Given the description of an element on the screen output the (x, y) to click on. 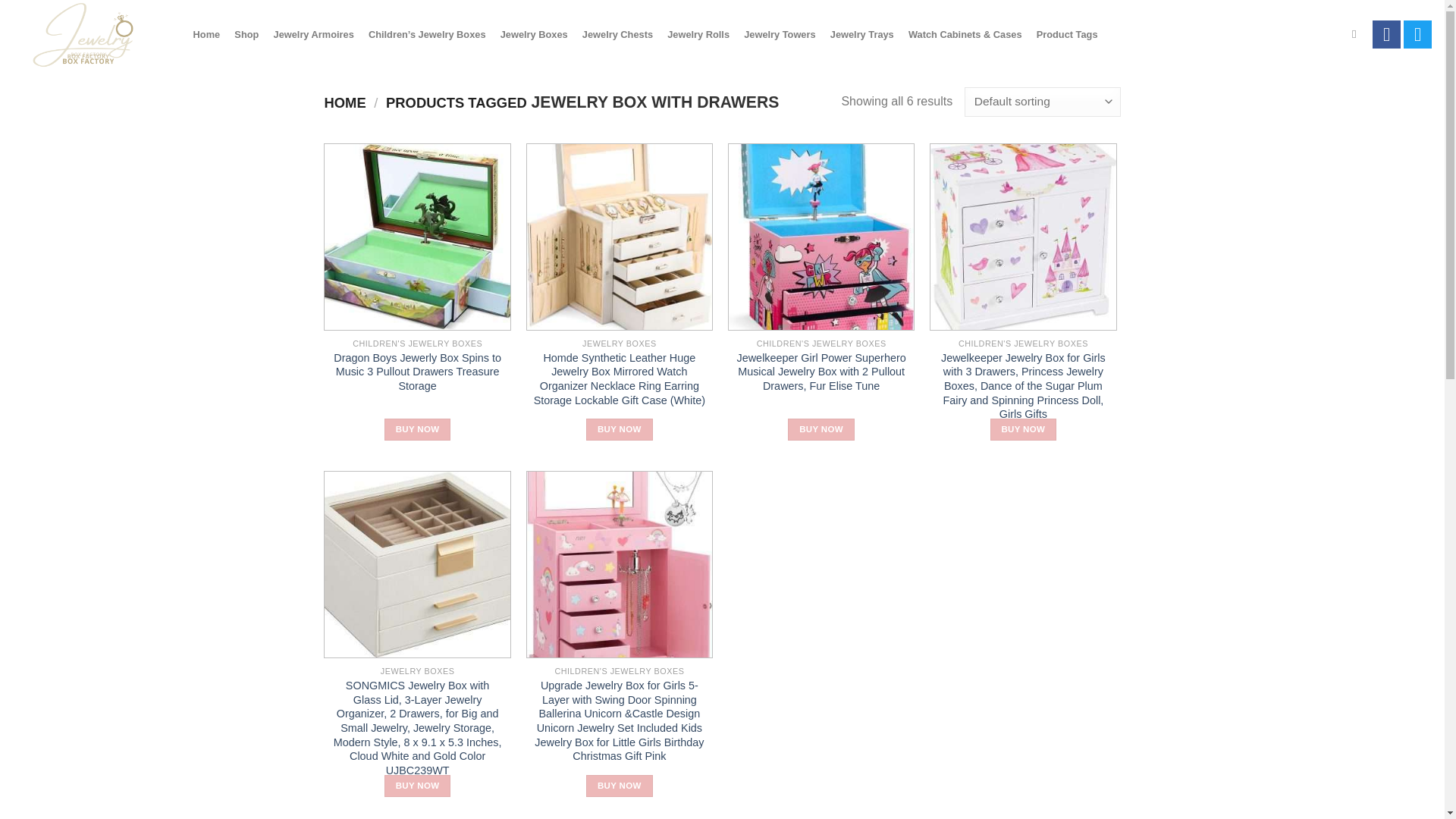
BUY NOW (417, 785)
Shop (246, 34)
Jewelry Armoires (313, 34)
Jewelry Trays (861, 34)
Facebook (1386, 33)
Buy Jewelry Box Online (87, 33)
Twitter (1417, 33)
Jewelry Boxes (534, 34)
